Given the description of an element on the screen output the (x, y) to click on. 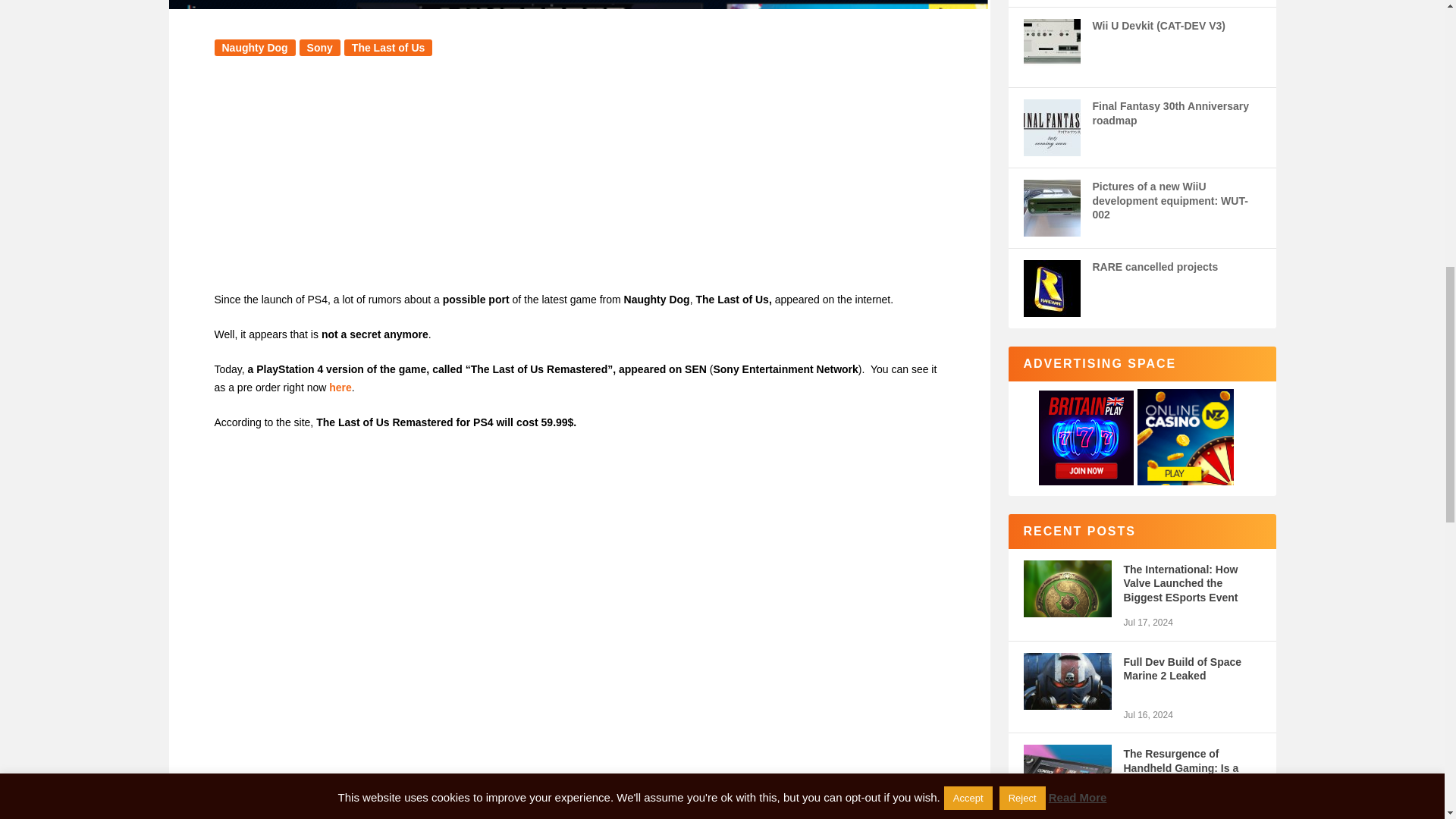
Advertisement (578, 178)
